Given the description of an element on the screen output the (x, y) to click on. 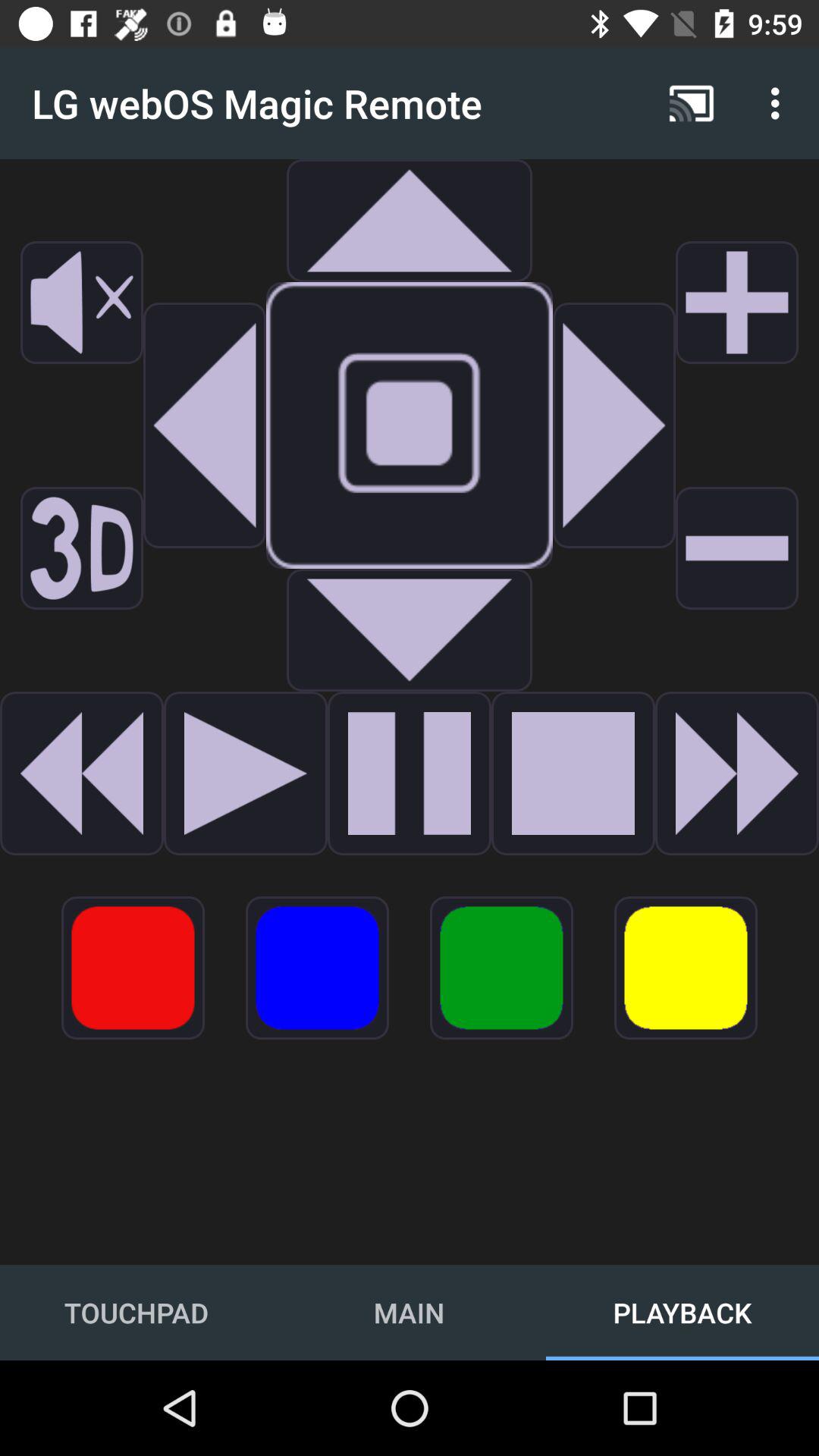
mute button (81, 302)
